Given the description of an element on the screen output the (x, y) to click on. 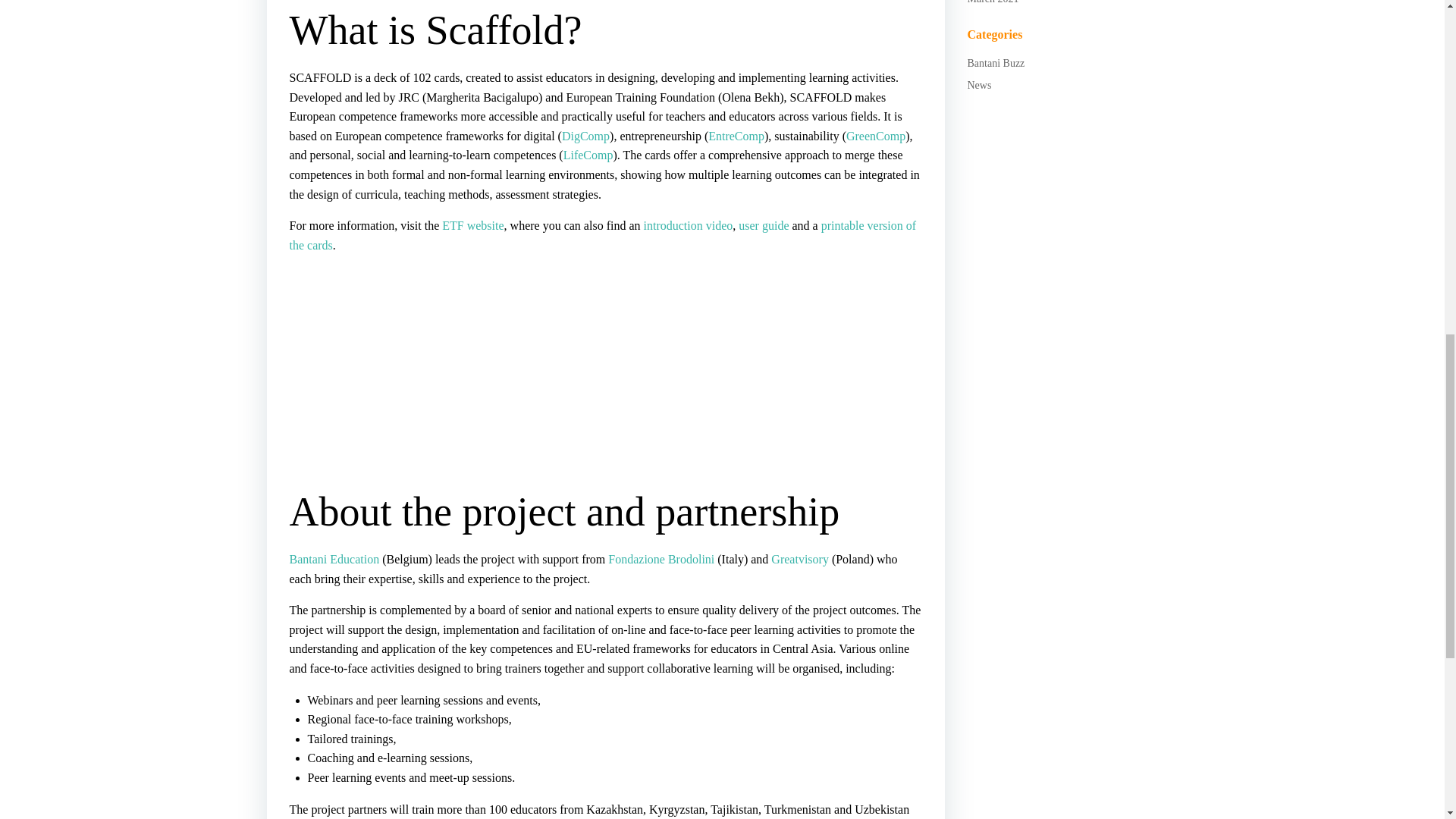
EntreComp (735, 135)
user guide (763, 225)
Fondazione Brodolini (661, 558)
LifeComp (587, 154)
DigComp (586, 135)
Greatvisory (799, 558)
ETF website (472, 225)
Bantani Education (334, 558)
printable version of the cards (602, 235)
Scaffold: table game for educators (402, 372)
